Given the description of an element on the screen output the (x, y) to click on. 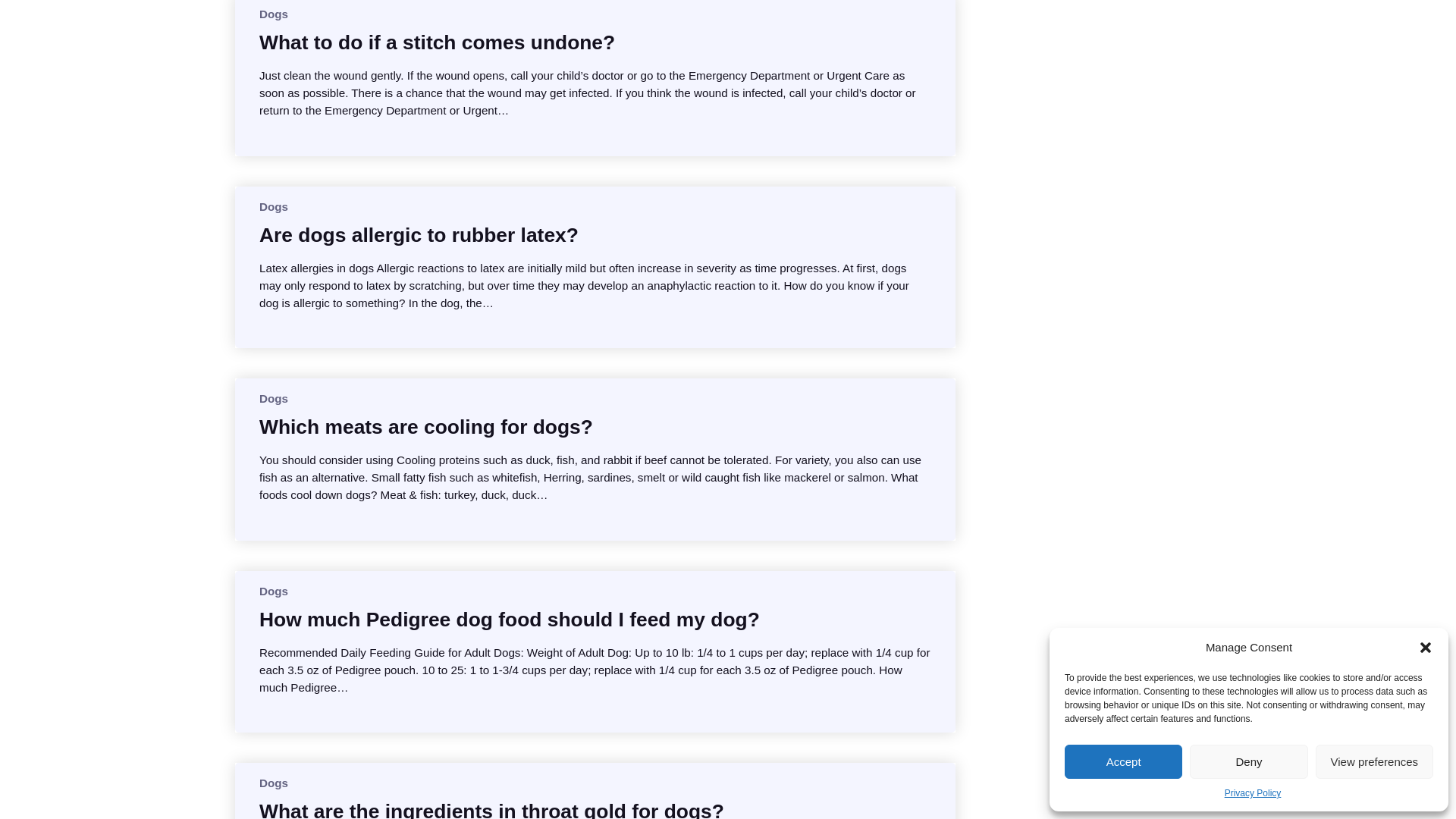
Dogs (273, 13)
